Given the description of an element on the screen output the (x, y) to click on. 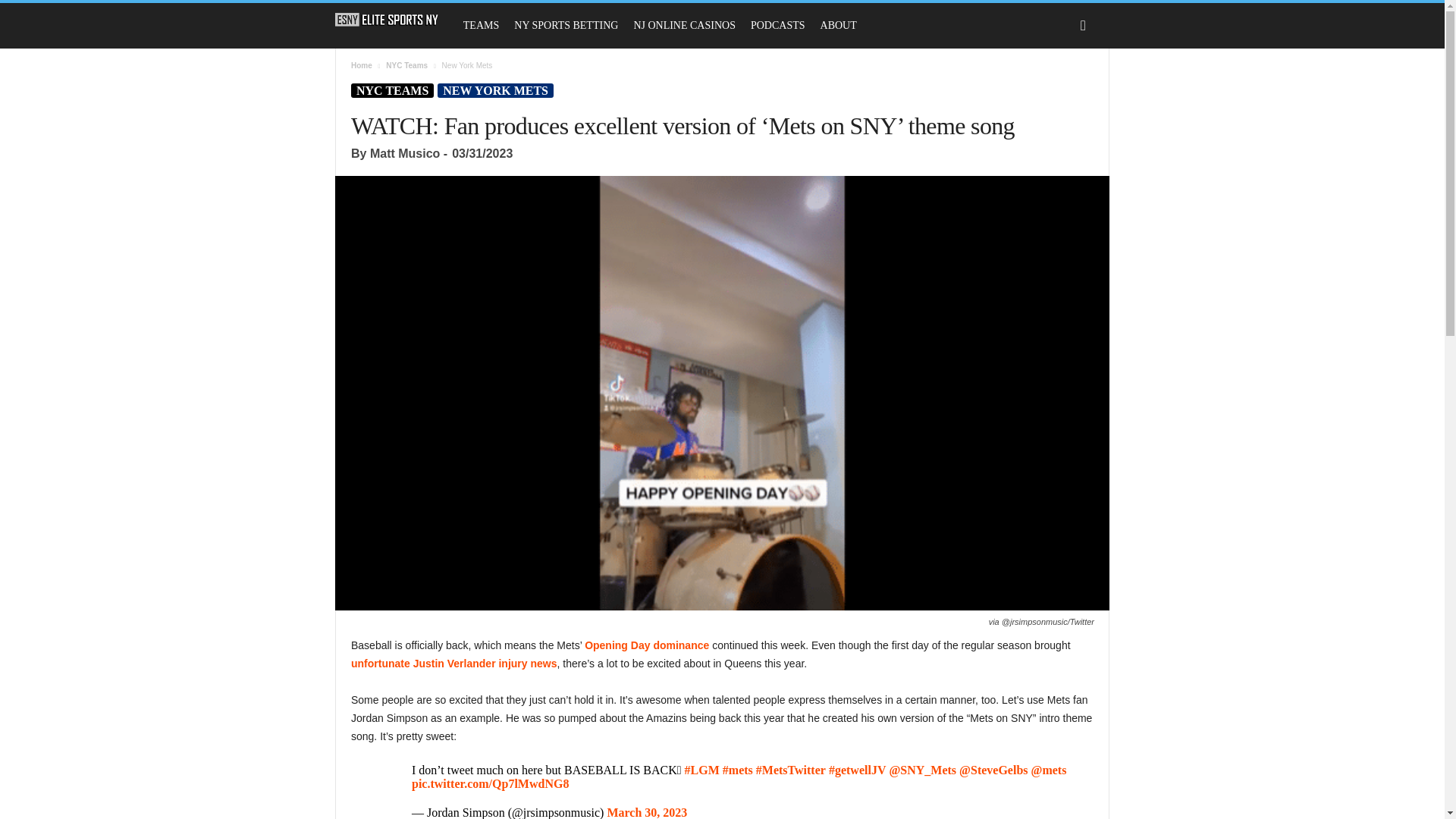
Elite Sports NY (394, 19)
TEAMS (480, 25)
View all posts in NYC Teams (406, 65)
Elite Sports NY (386, 19)
